Given the description of an element on the screen output the (x, y) to click on. 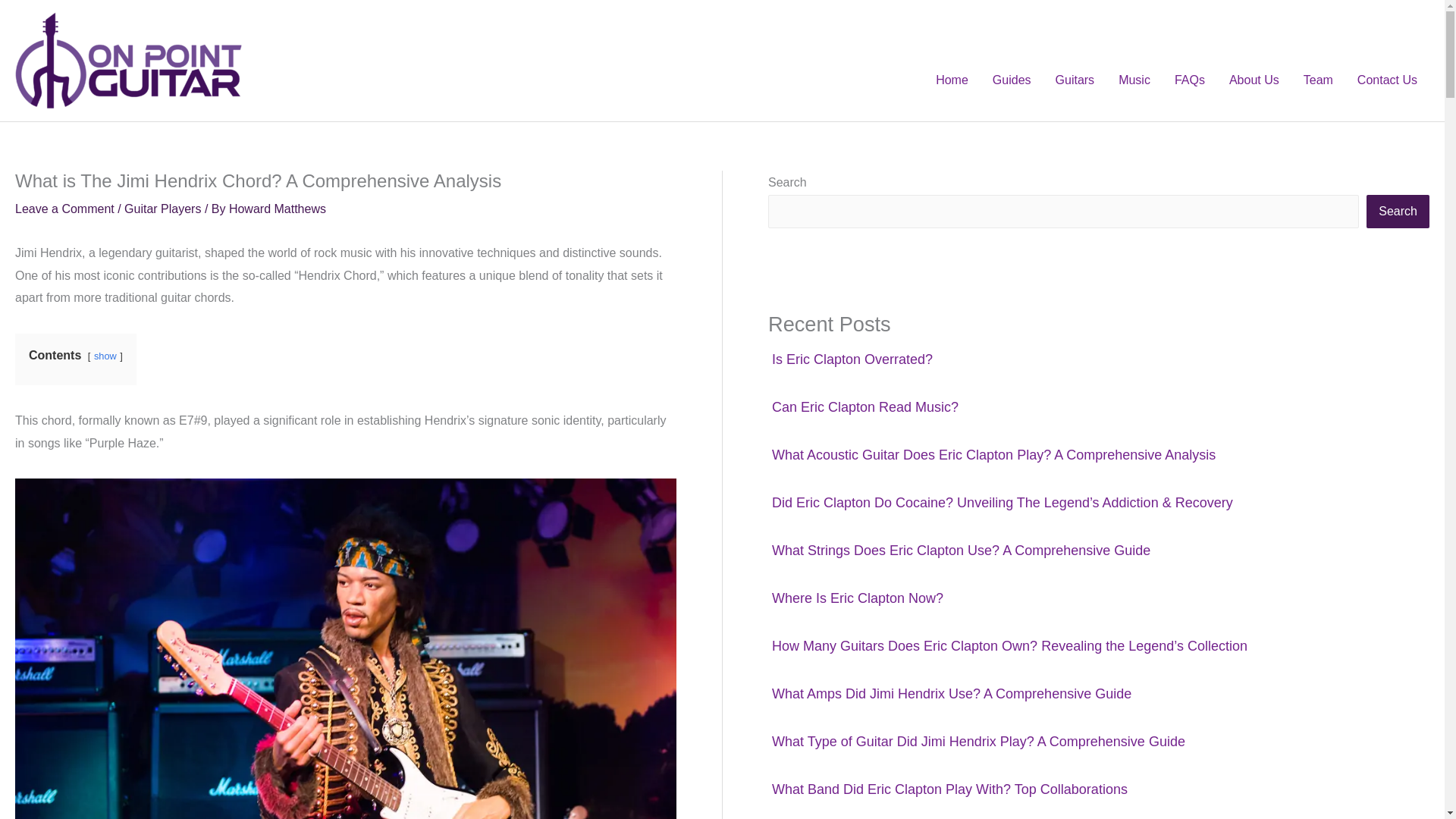
Team (1318, 80)
show (105, 355)
Leave a Comment (64, 208)
Guitar Players (161, 208)
Contact Us (1387, 80)
View all posts by Howard Matthews (277, 208)
Guitars (1074, 80)
Guides (1011, 80)
FAQs (1189, 80)
Howard Matthews (277, 208)
Music (1133, 80)
Home (951, 80)
About Us (1254, 80)
